Given the description of an element on the screen output the (x, y) to click on. 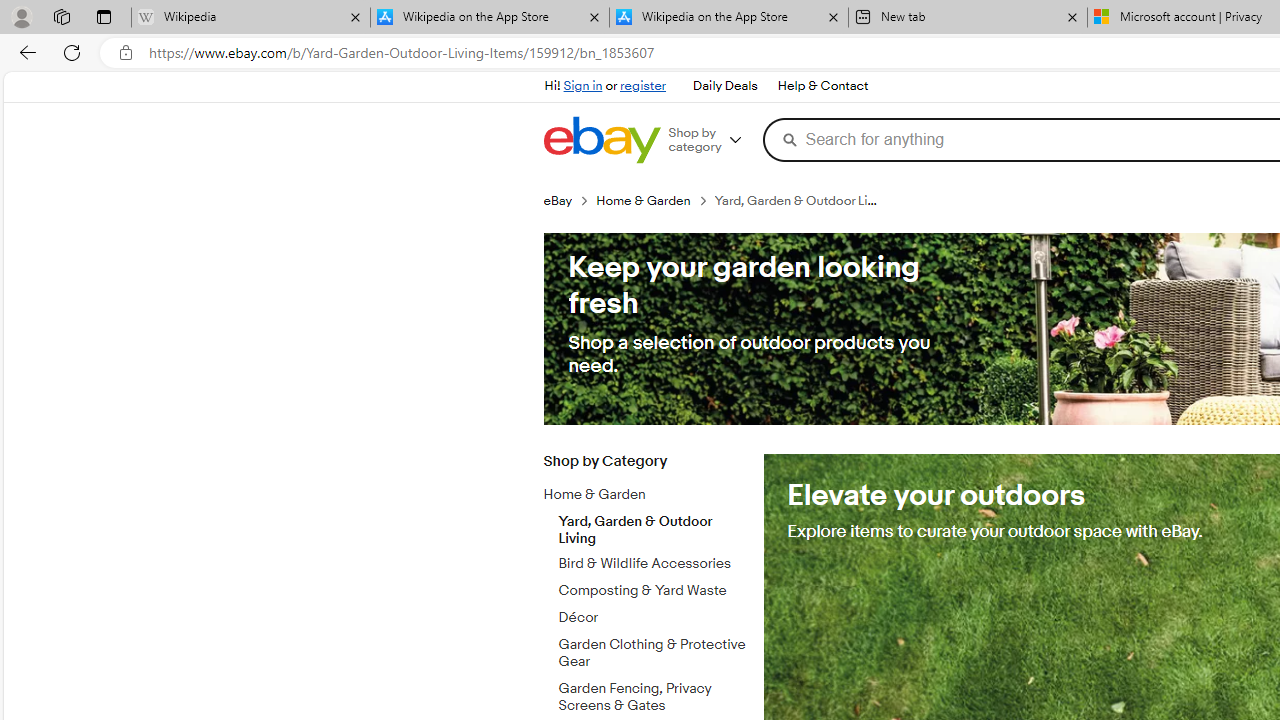
Composting & Yard Waste (653, 587)
Bird & Wildlife Accessories (653, 560)
